Given the description of an element on the screen output the (x, y) to click on. 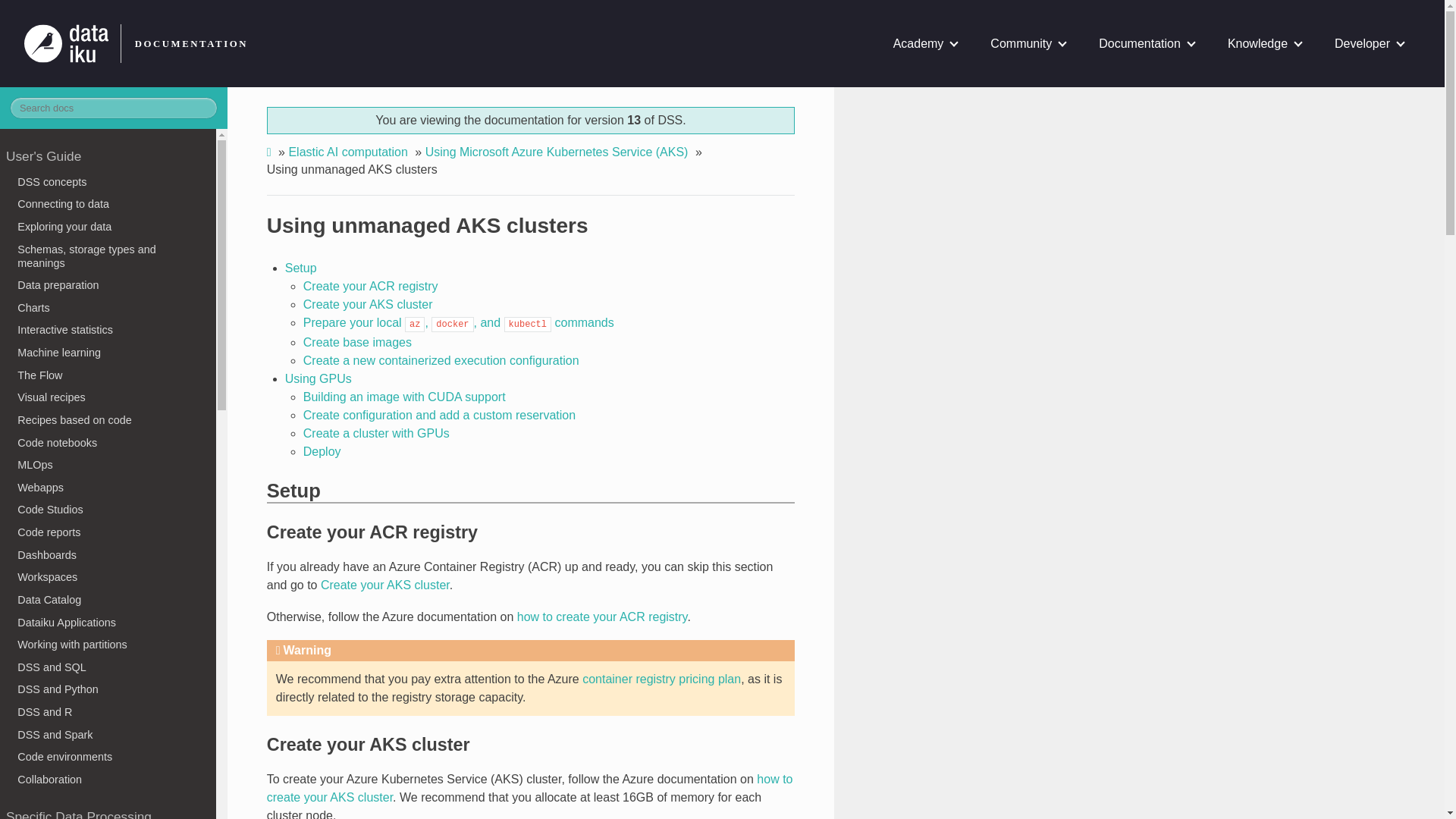
Documentation (1146, 43)
Academy (925, 43)
Knowledge (1264, 43)
DOCUMENTATION (186, 43)
Community (1027, 43)
